Given the description of an element on the screen output the (x, y) to click on. 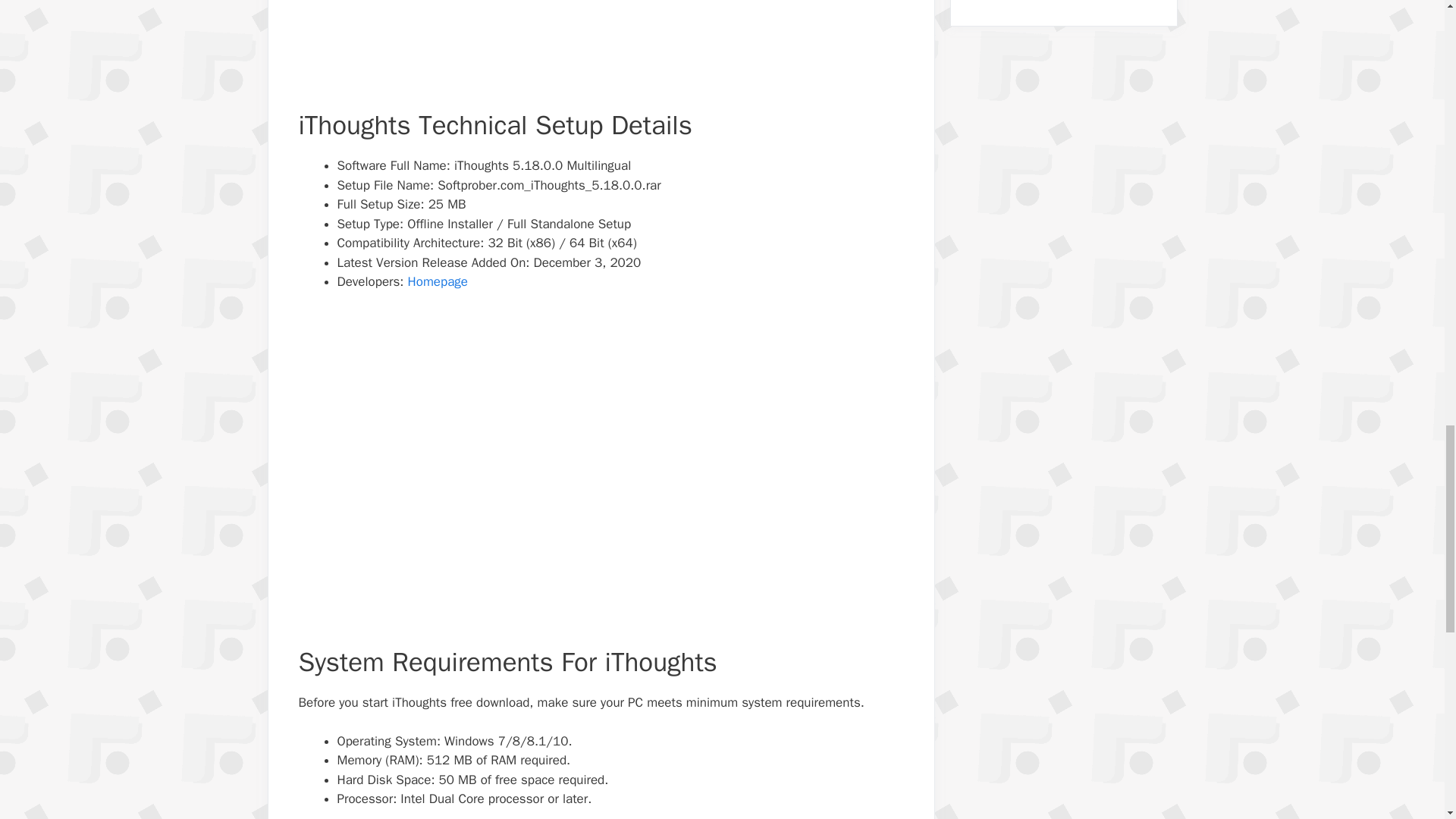
Homepage (437, 281)
